Given the description of an element on the screen output the (x, y) to click on. 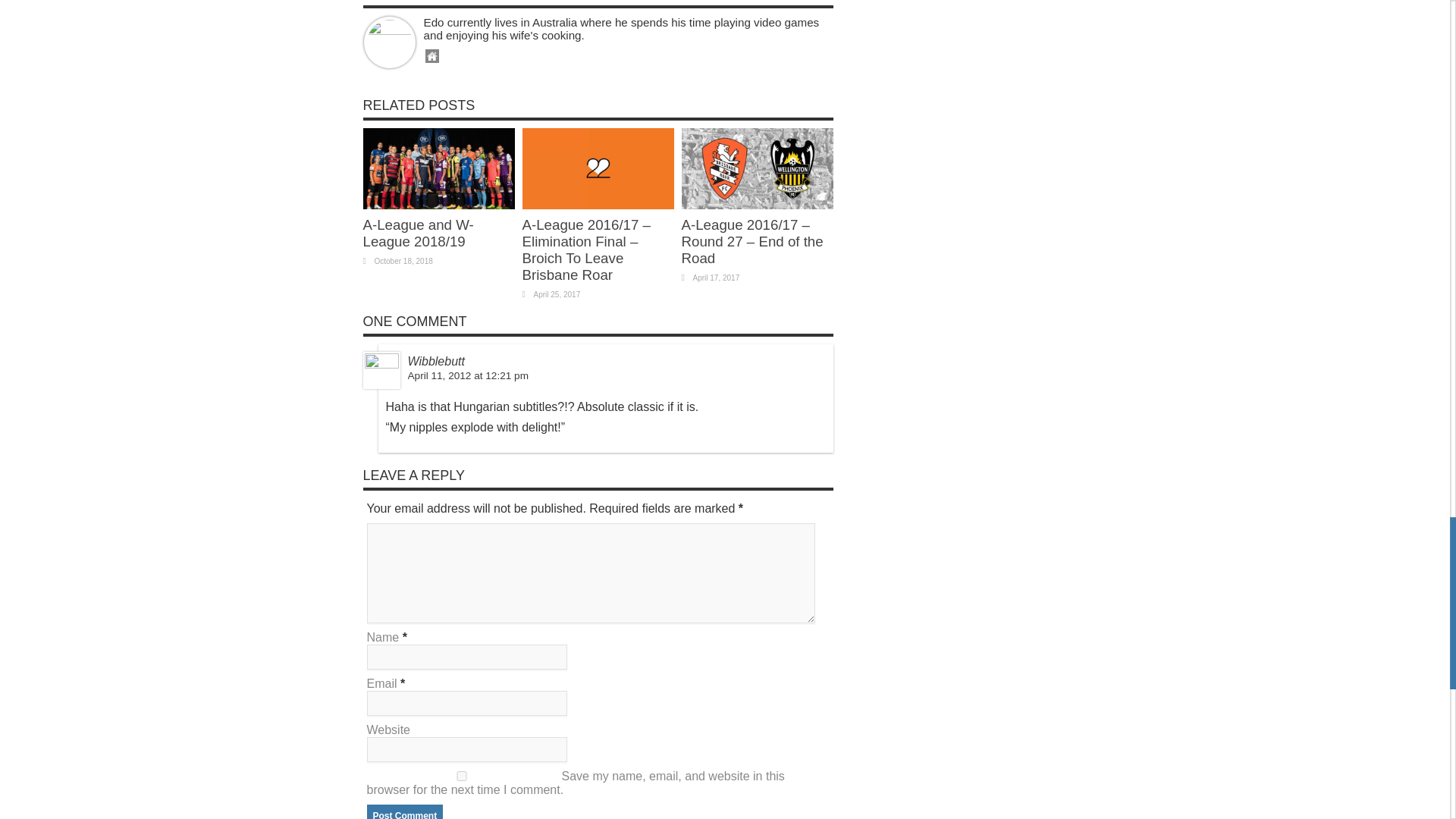
yes (461, 776)
Post Comment (405, 811)
